Given the description of an element on the screen output the (x, y) to click on. 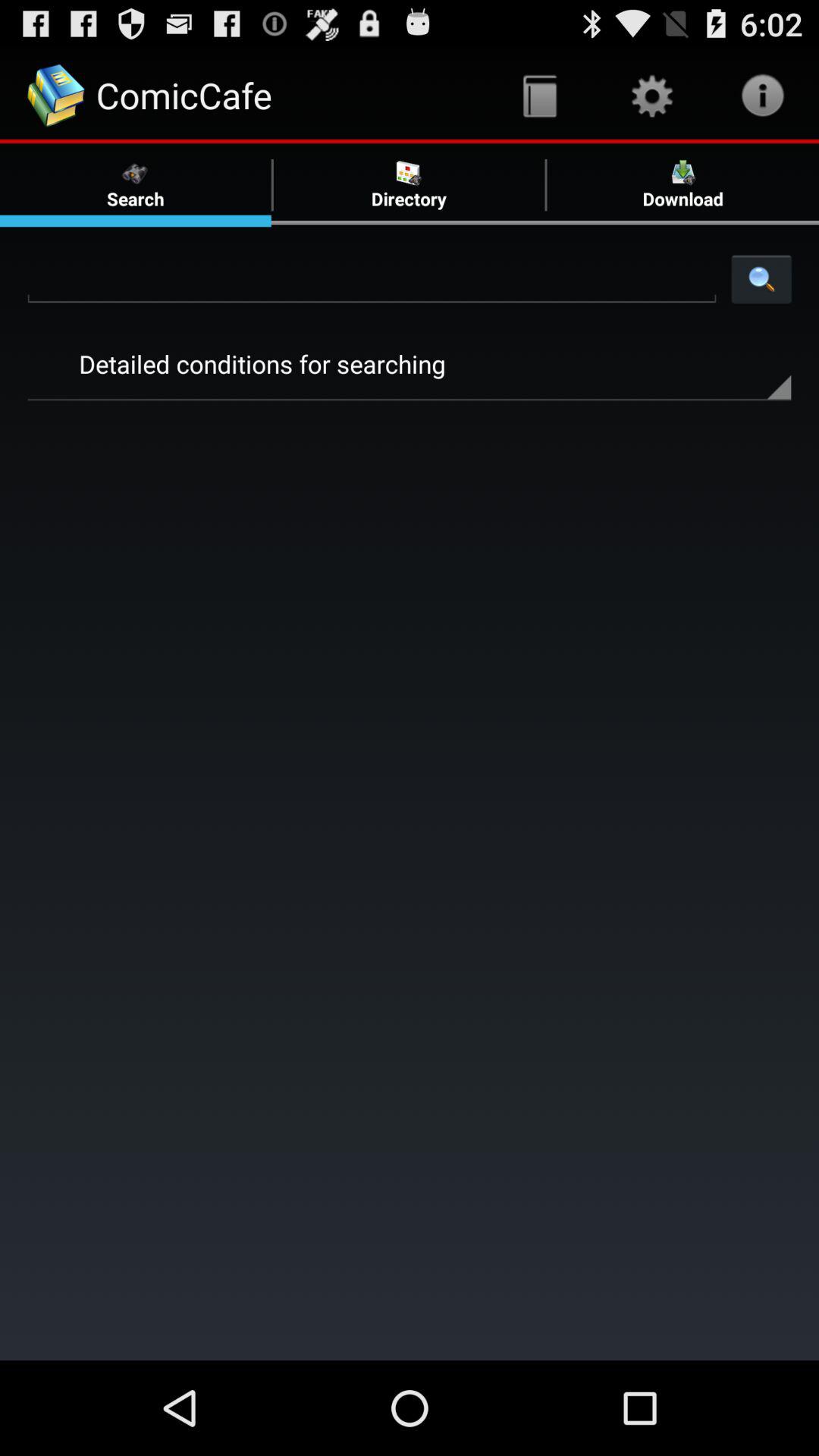
type search enquiry (371, 278)
